Given the description of an element on the screen output the (x, y) to click on. 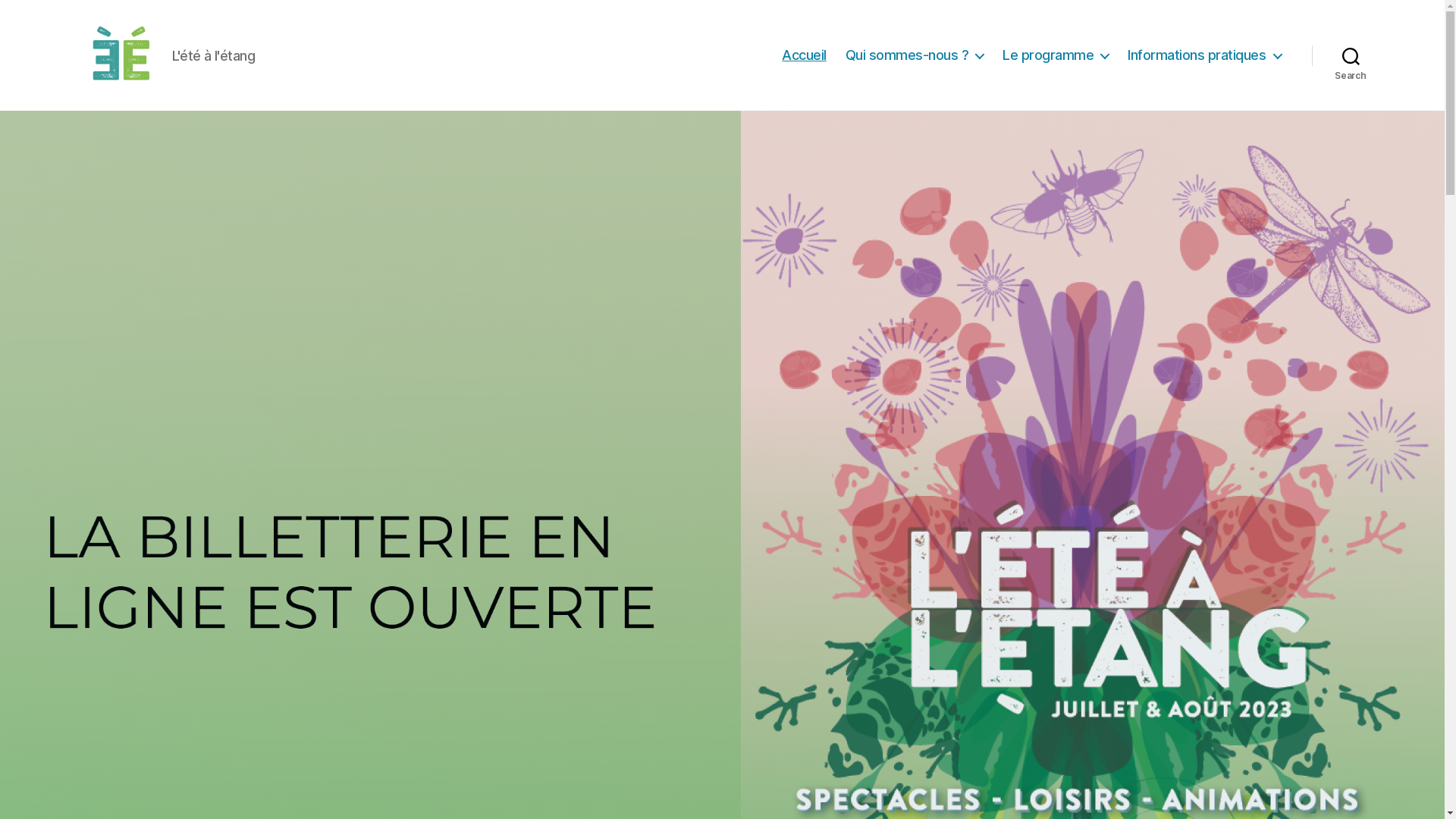
Le programme Element type: text (1055, 55)
Informations pratiques Element type: text (1203, 55)
Search Element type: text (1350, 55)
Accueil Element type: text (803, 55)
Qui sommes-nous ? Element type: text (914, 55)
